Given the description of an element on the screen output the (x, y) to click on. 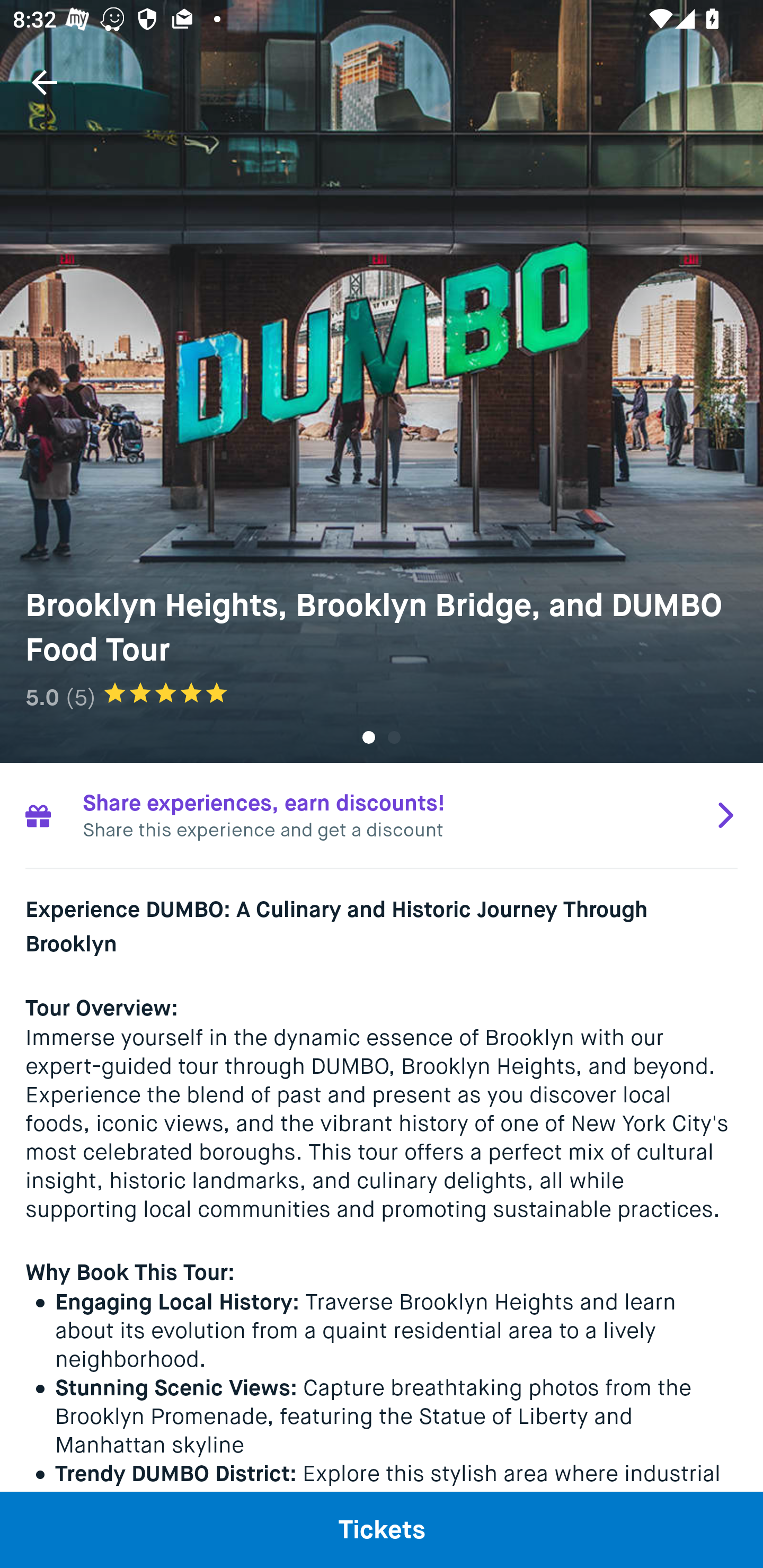
Navigate up (44, 82)
(5) (80, 697)
Tickets (381, 1529)
